Given the description of an element on the screen output the (x, y) to click on. 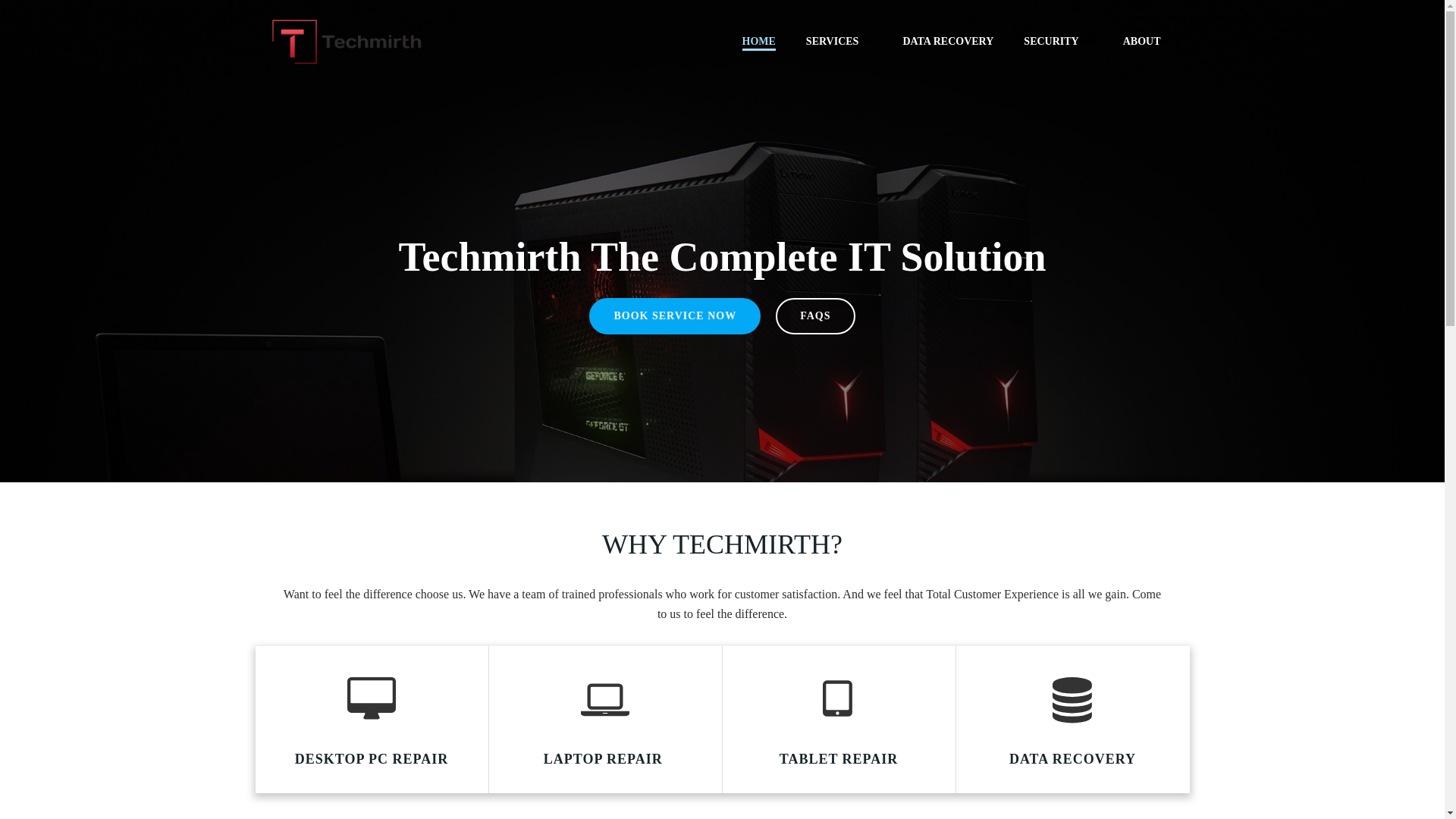
DATA RECOVERY (1072, 759)
BOOK SERVICE NOW (674, 316)
DESKTOP PC REPAIR (371, 759)
DATA RECOVERY (947, 41)
SERVICES (839, 41)
FAQS (815, 316)
ABOUT (1148, 41)
SECURITY (1057, 41)
HOME (757, 41)
Techmirth (815, 796)
